Given the description of an element on the screen output the (x, y) to click on. 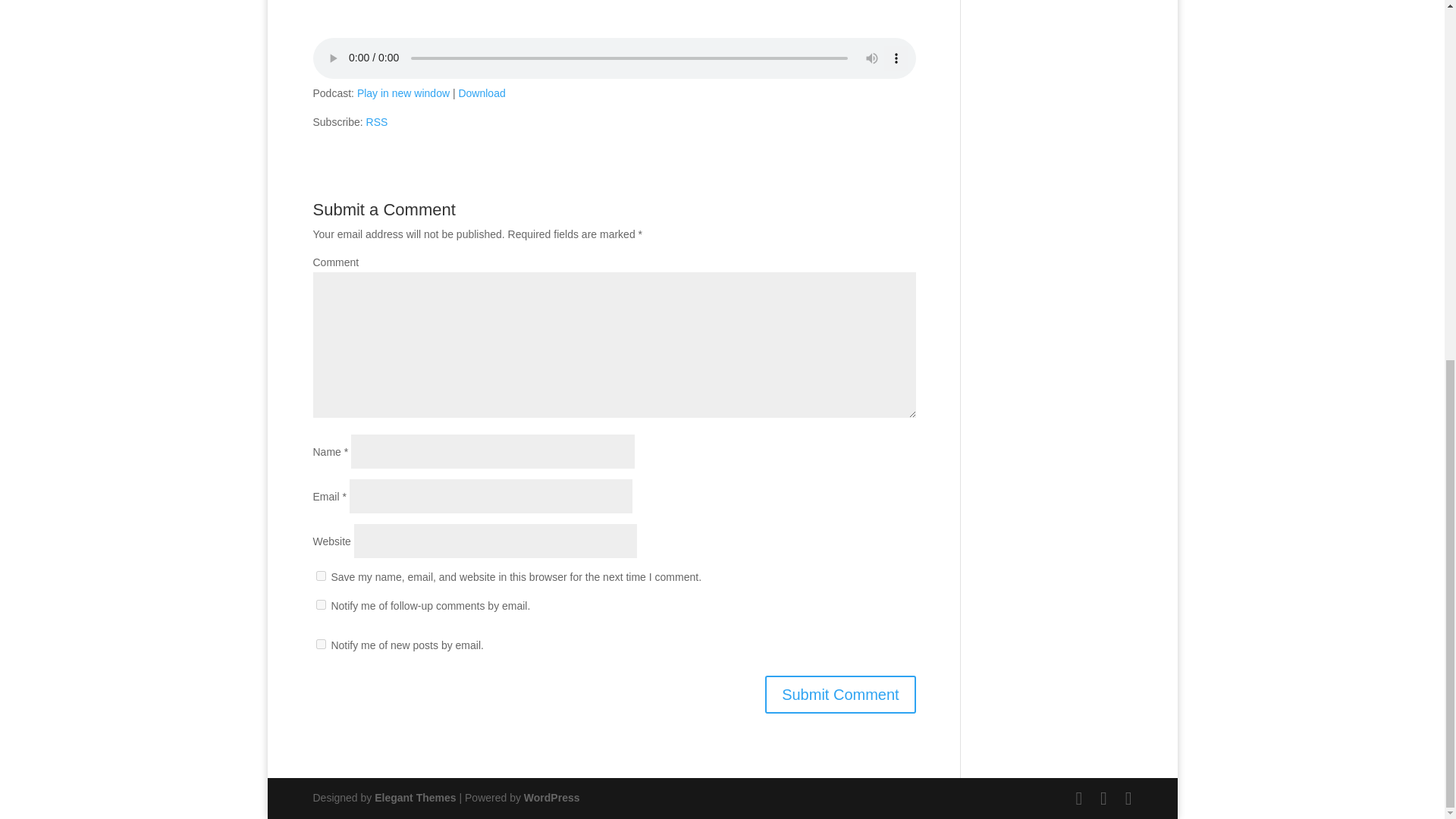
RSS (377, 121)
yes (319, 575)
Play in new window (402, 92)
Play in new window (402, 92)
Subscribe via RSS (377, 121)
Submit Comment (840, 694)
Premium WordPress Themes (414, 797)
Submit Comment (840, 694)
Download (481, 92)
subscribe (319, 604)
